Given the description of an element on the screen output the (x, y) to click on. 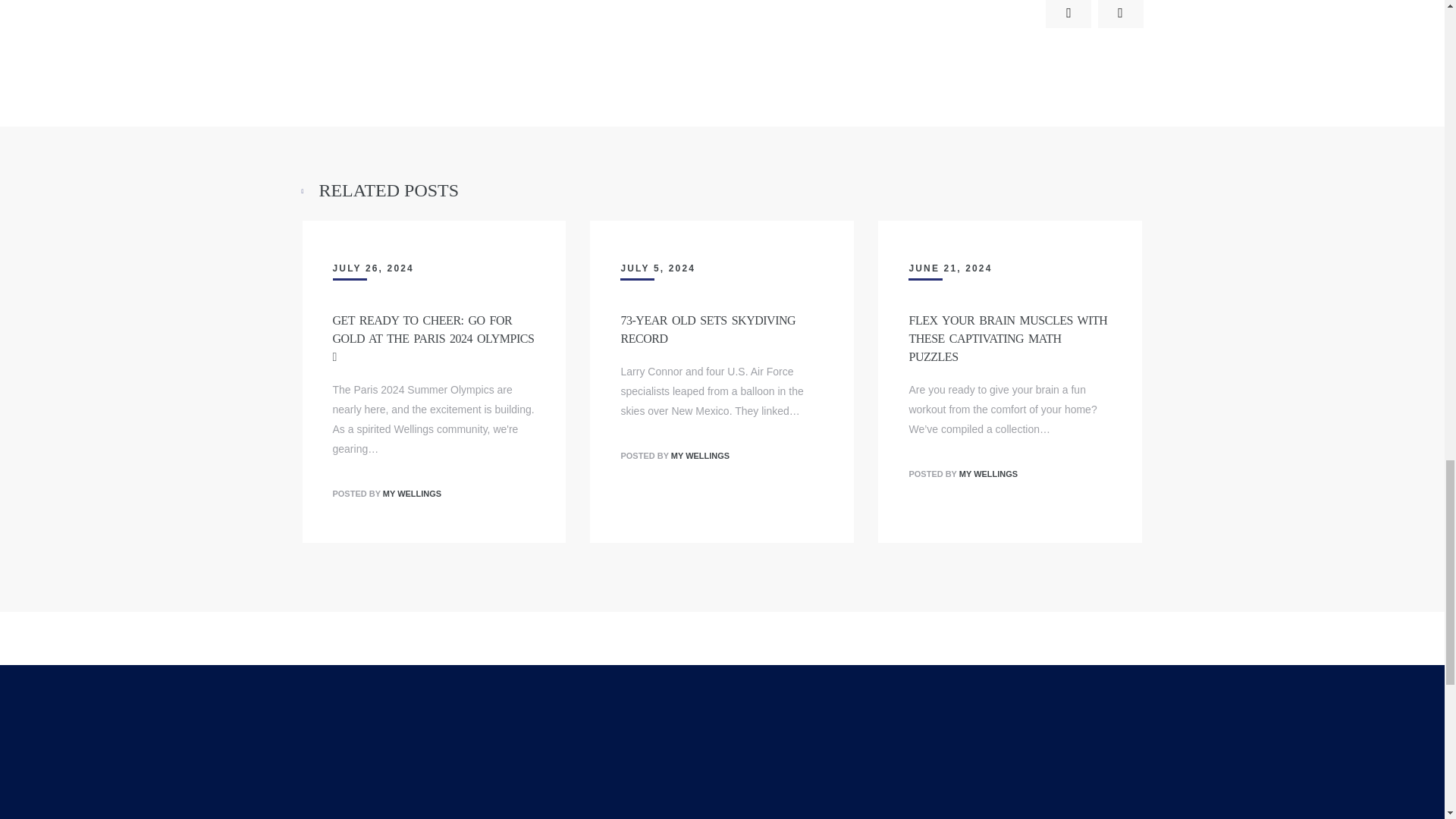
JULY 26, 2024 (372, 267)
